Given the description of an element on the screen output the (x, y) to click on. 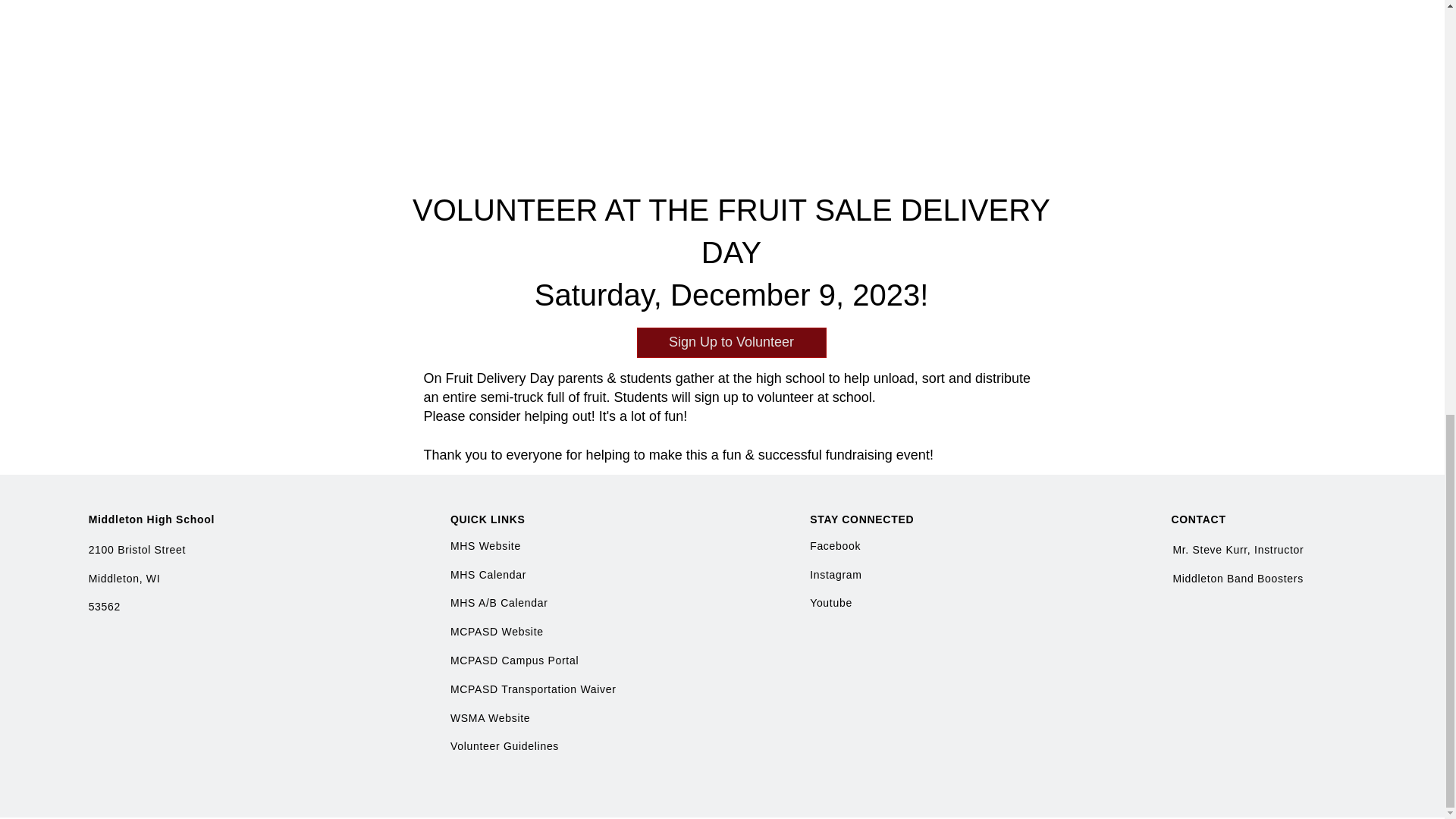
MHS Calendar (487, 574)
MCPASD Transportation Waiver (532, 689)
Instagram (835, 574)
Middleton Band Boosters (1237, 578)
Volunteer Guidelines (504, 746)
Mr. Steve Kurr, Instructor (1237, 549)
Sign Up to Volunteer (732, 342)
MHS Website  (486, 545)
Youtube (830, 603)
Embedded Content (746, 38)
MCPASD Website (496, 631)
WSMA Website (489, 717)
Facebook (834, 545)
MCPASD Campus Portal (513, 660)
